Given the description of an element on the screen output the (x, y) to click on. 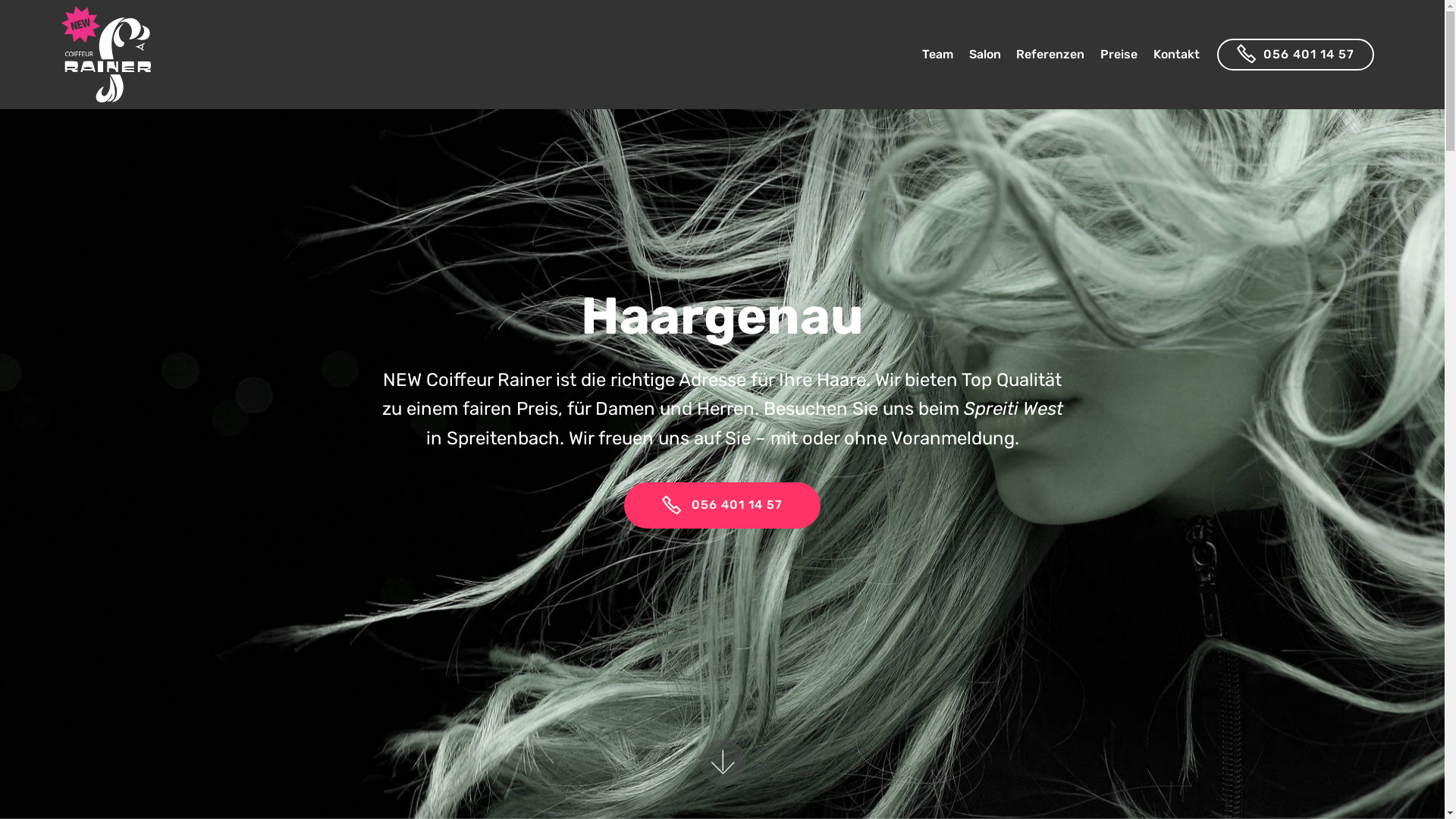
056 401 14 57 Element type: text (1295, 54)
Team Element type: text (937, 54)
Preise Element type: text (1118, 54)
Referenzen Element type: text (1050, 54)
Salon Element type: text (985, 54)
Kontakt Element type: text (1176, 54)
056 401 14 57 Element type: text (722, 505)
